Given the description of an element on the screen output the (x, y) to click on. 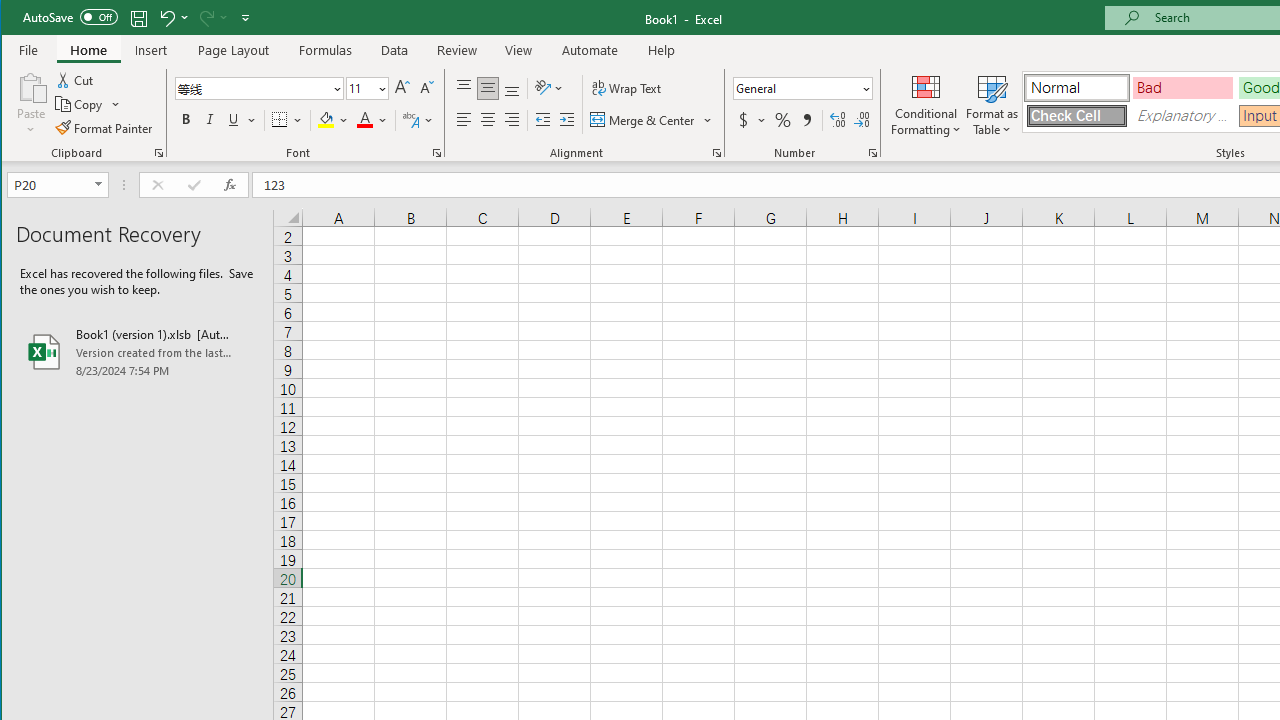
PivotChart (779, 104)
3D Models (371, 104)
Data (395, 50)
Maps (727, 104)
Win/Loss (995, 104)
Insert Scatter (X, Y) or Bubble Chart (652, 124)
PivotTable (39, 86)
Save (139, 17)
Insert Waterfall, Funnel, Stock, Surface, or Radar Chart (688, 78)
PivotChart (779, 86)
Timeline (1098, 104)
Recommended PivotTables (111, 104)
Formulas (326, 50)
